Given the description of an element on the screen output the (x, y) to click on. 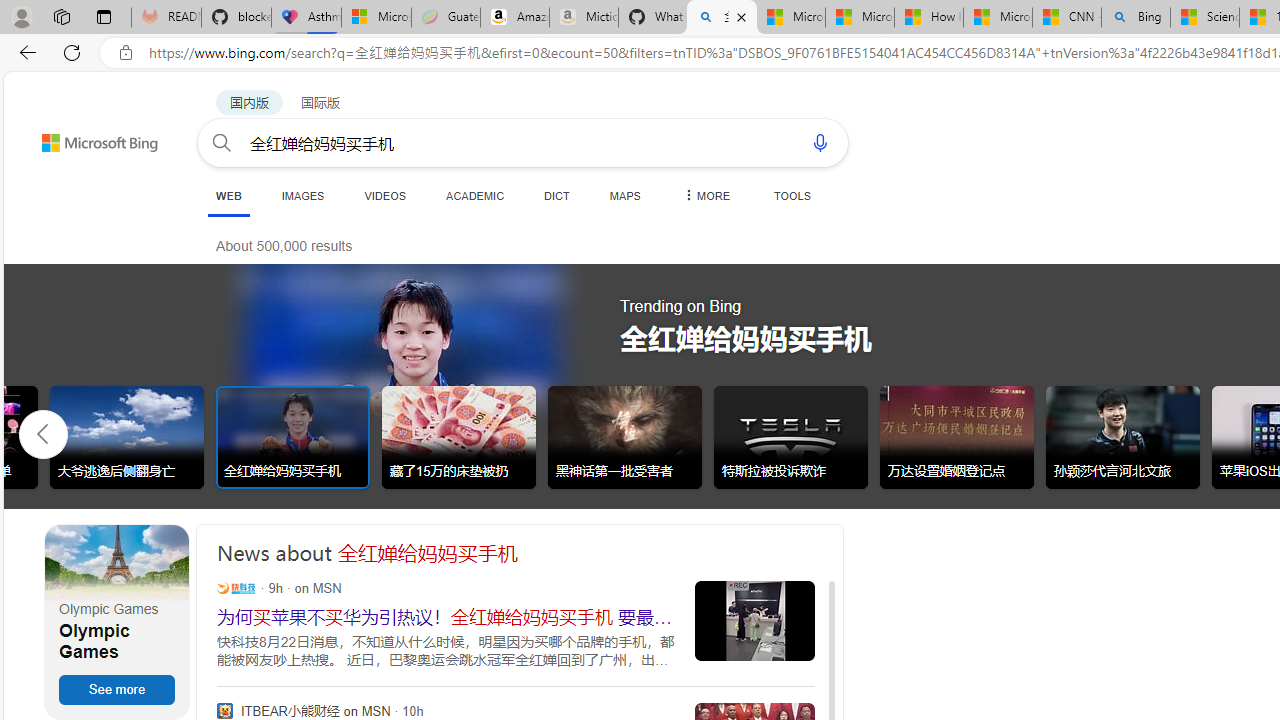
MAPS (624, 195)
Refresh (72, 52)
Microsoft-Report a Concern to Bing (375, 17)
Search button (221, 142)
Asthma Inhalers: Names and Types (305, 17)
DICT (557, 195)
Microsoft Start (997, 17)
View site information (125, 53)
Workspaces (61, 16)
MORE (705, 195)
